Given the description of an element on the screen output the (x, y) to click on. 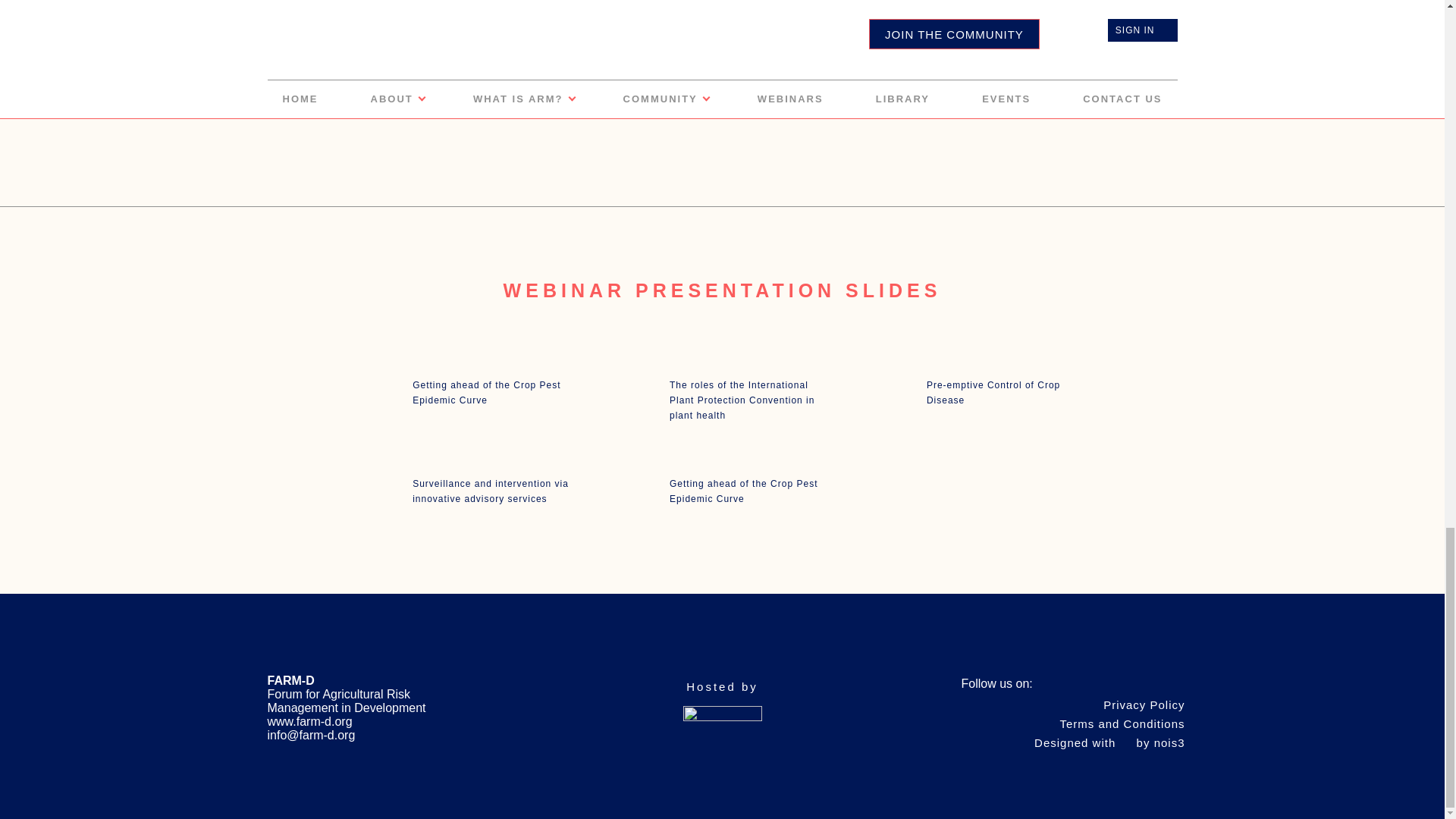
designed with love by nois3 (1122, 719)
facebook (1126, 685)
instagram (1171, 685)
twitter (1080, 685)
Privacy Policy (1144, 700)
designed with love by nois3 (1109, 738)
youtube (1148, 685)
linkedin (1103, 685)
